Given the description of an element on the screen output the (x, y) to click on. 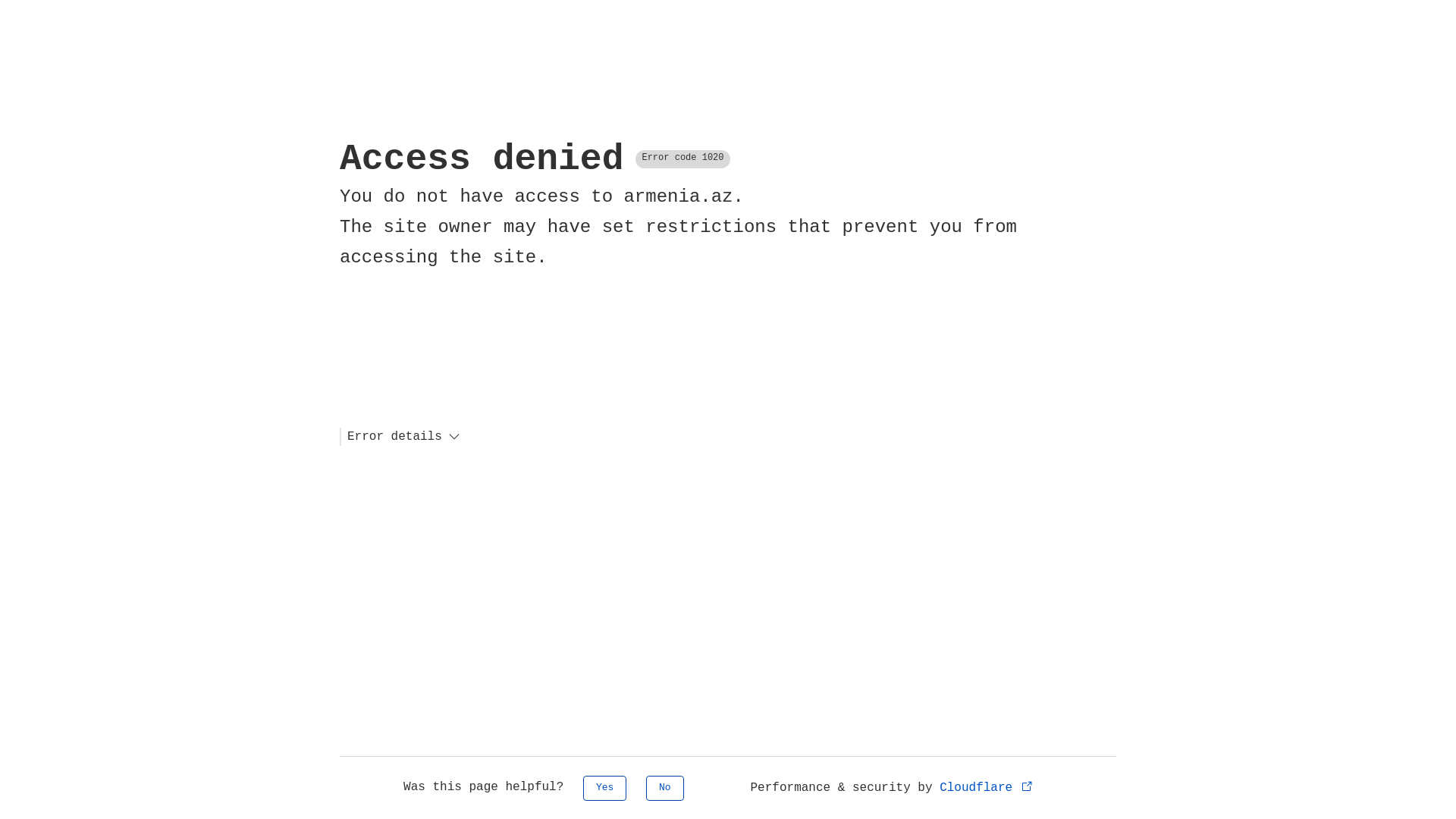
No Element type: text (665, 787)
Opens in new tab Element type: hover (1027, 785)
Cloudflare Element type: text (986, 787)
Yes Element type: text (604, 787)
